Given the description of an element on the screen output the (x, y) to click on. 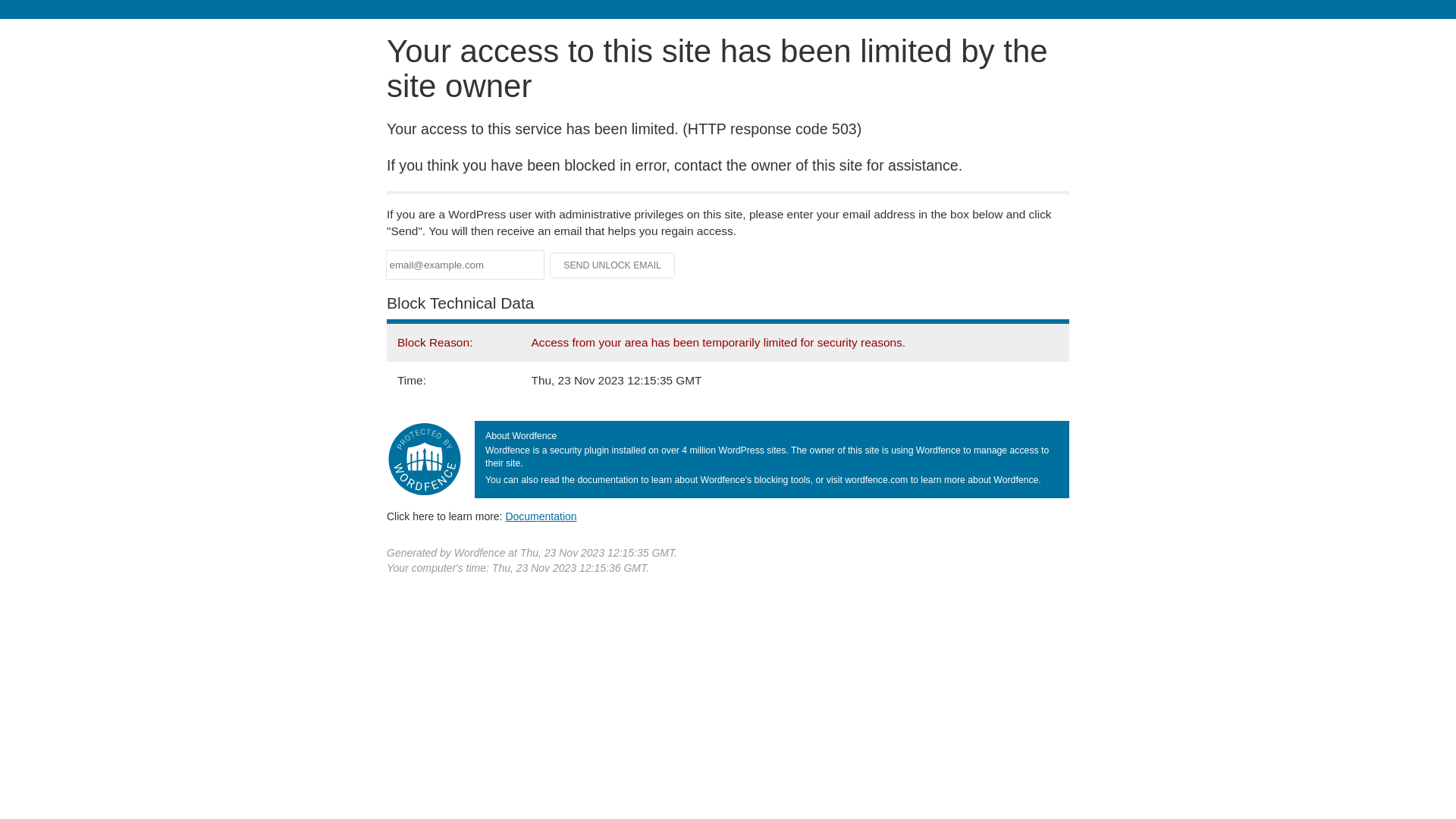
Send Unlock Email Element type: text (612, 265)
Documentation Element type: text (540, 516)
